Given the description of an element on the screen output the (x, y) to click on. 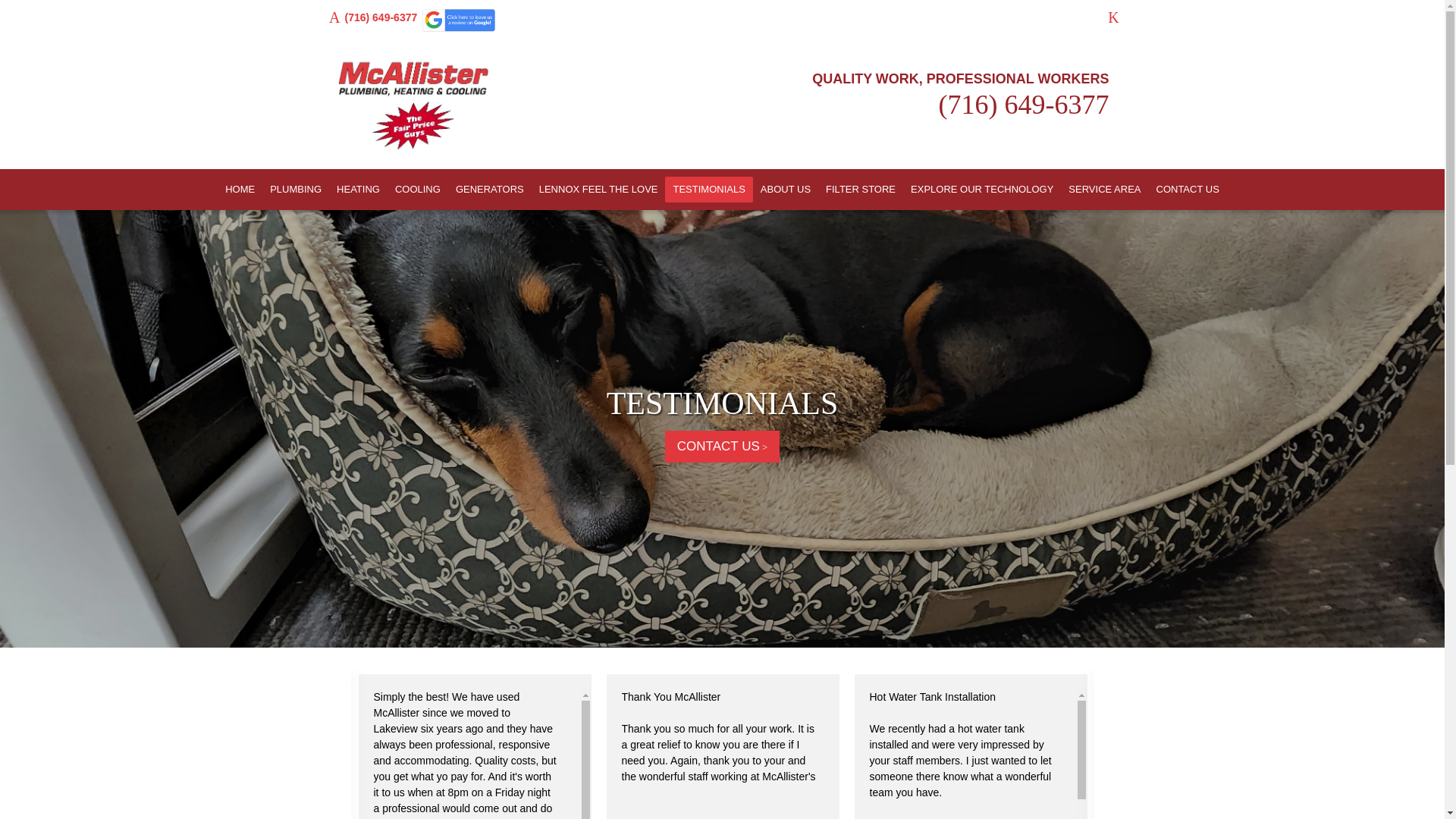
CONTACT US (721, 446)
CONTACT US (1186, 189)
TESTIMONIALS (722, 402)
PLUMBING (295, 189)
SERVICE AREA (1104, 189)
GENERATORS (489, 189)
EXPLORE OUR TECHNOLOGY (981, 189)
COOLING (417, 189)
ABOUT US (785, 189)
FILTER STORE (860, 189)
Facebook (1113, 17)
LENNOX FEEL THE LOVE (598, 189)
TESTIMONIALS (708, 189)
HEATING (358, 189)
HOME (239, 189)
